Given the description of an element on the screen output the (x, y) to click on. 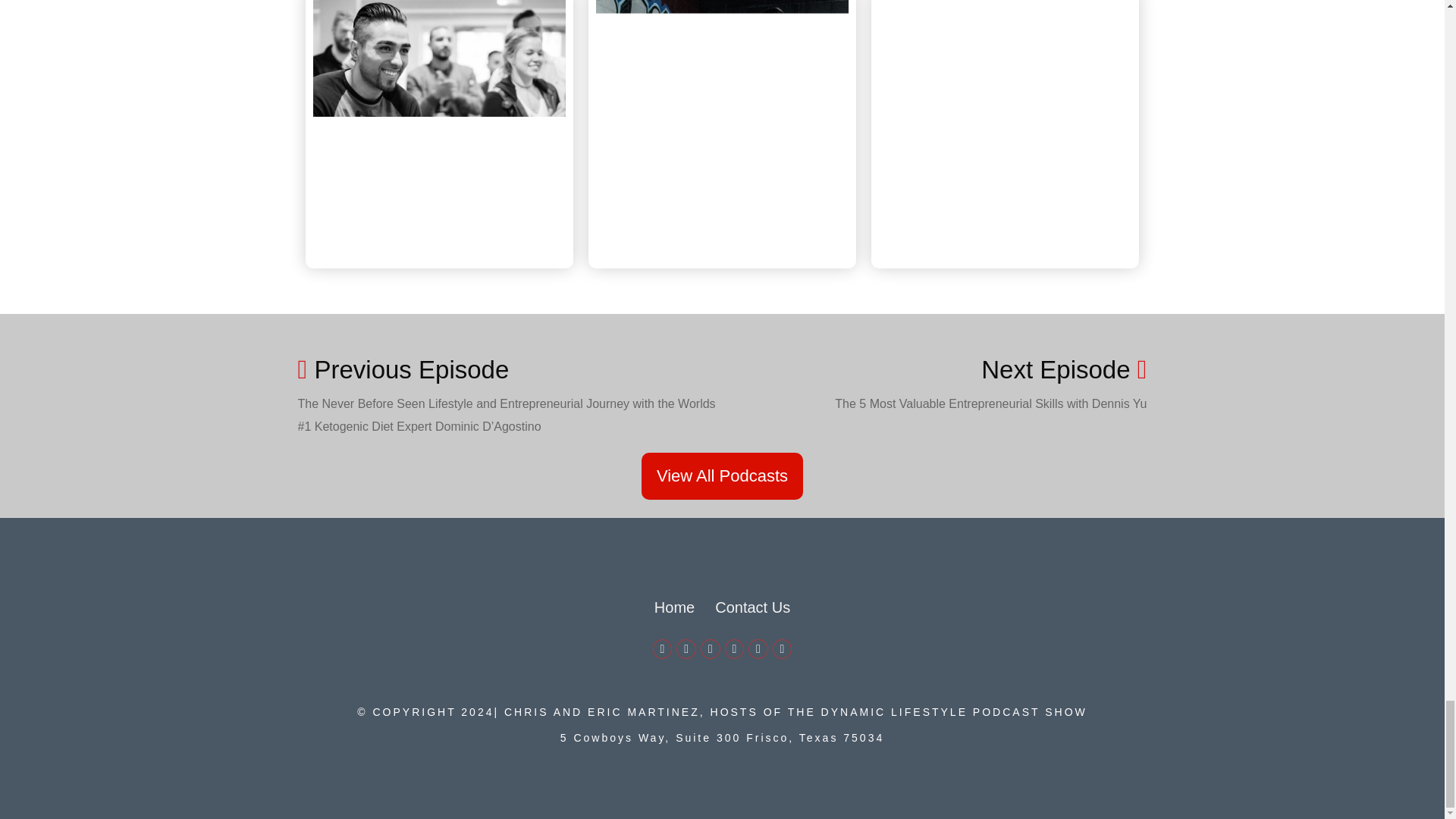
Instagram (758, 649)
Previous Episode (509, 369)
Facebook-f (662, 649)
Soundcloud (782, 649)
Contact Us (752, 607)
Linkedin-in (710, 649)
Youtube (734, 649)
View All Podcasts (722, 475)
Home (673, 607)
Next Episode (1064, 369)
Twitter (686, 649)
The 5 Most Valuable Entrepreneurial Skills with Dennis Yu (990, 404)
